Given the description of an element on the screen output the (x, y) to click on. 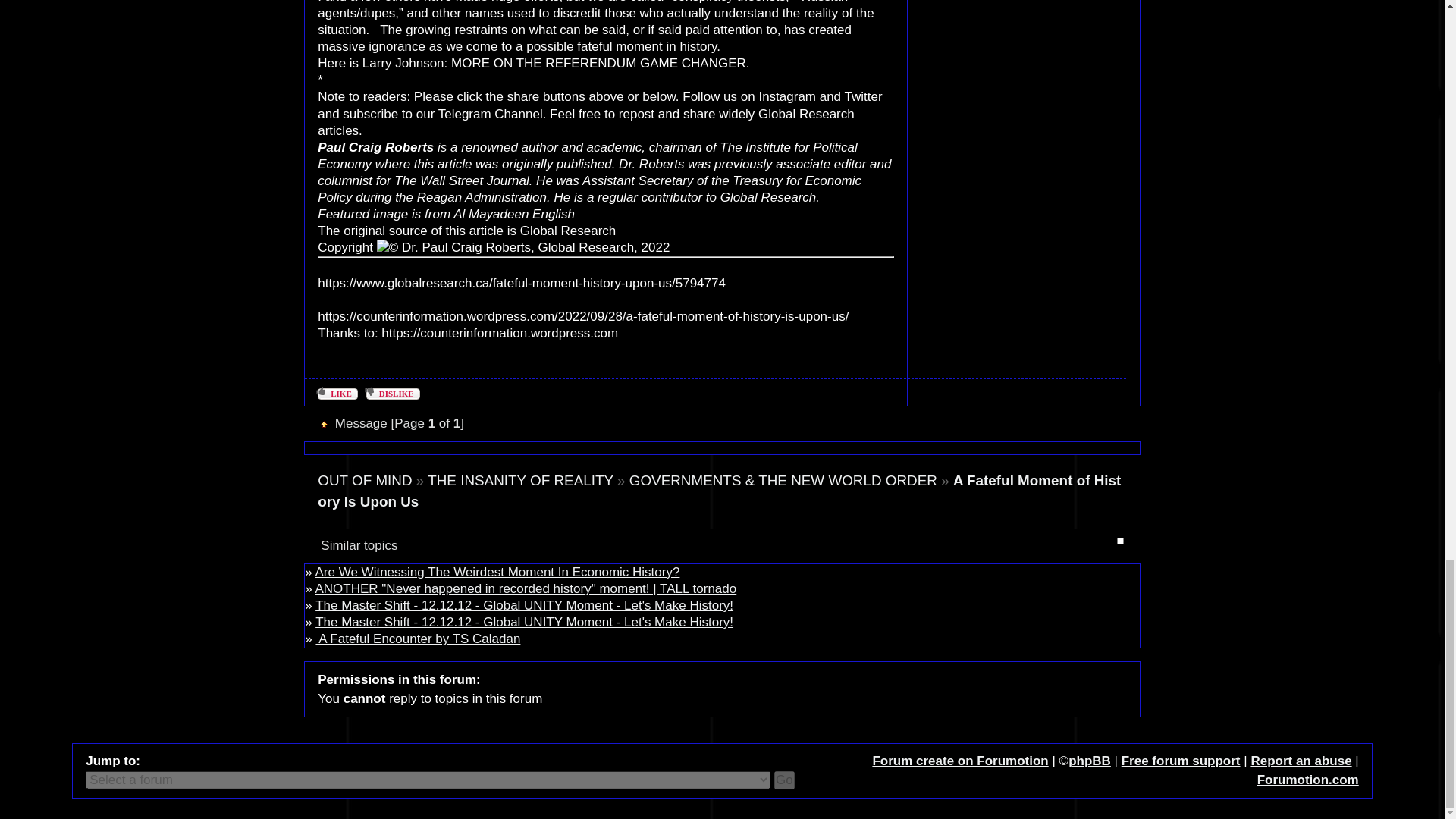
Go (784, 780)
